Given the description of an element on the screen output the (x, y) to click on. 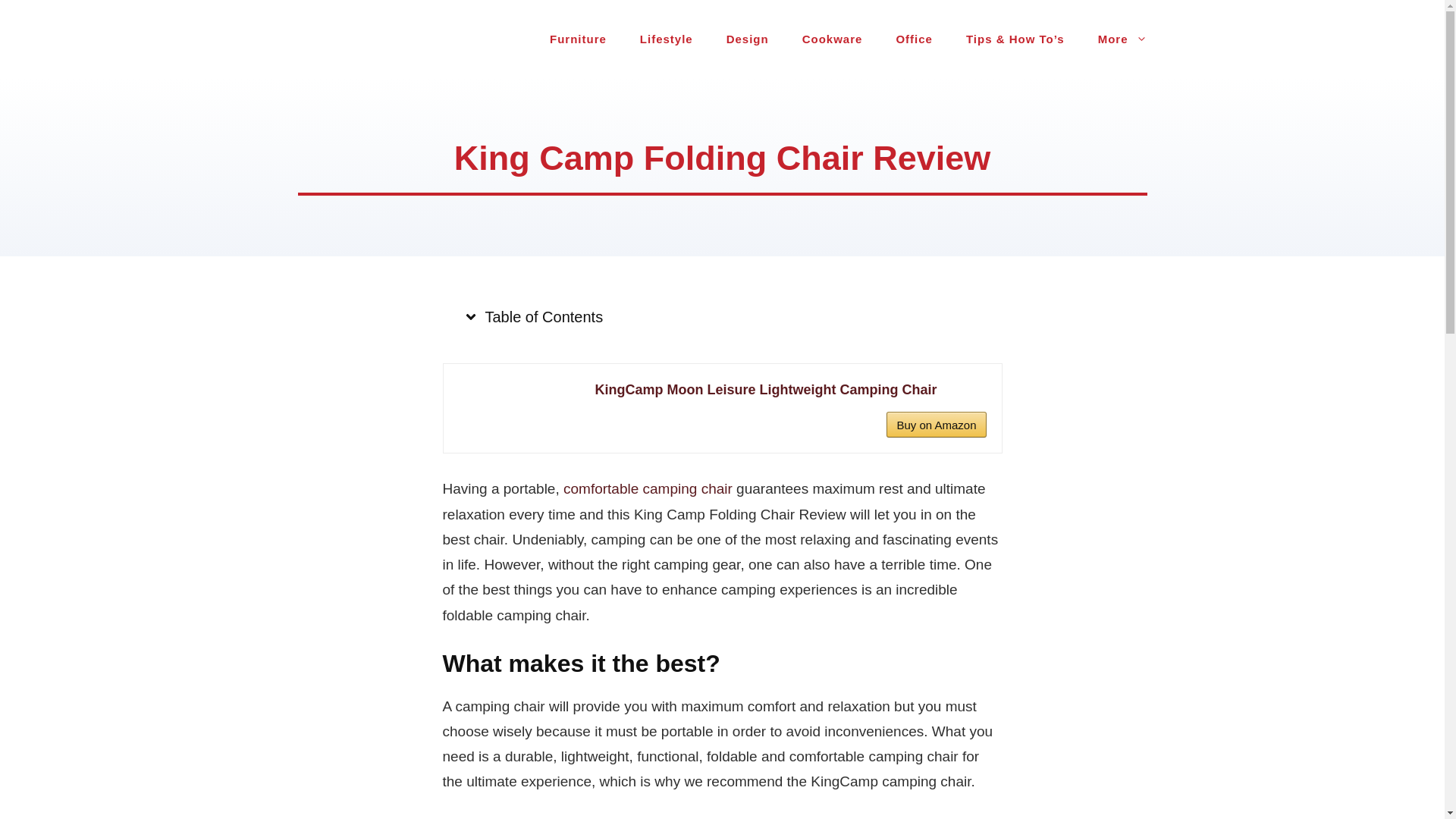
Table of Contents (532, 316)
Lifestyle (665, 39)
comfortable camping chair (647, 488)
Cookware (832, 39)
Design (747, 39)
Buy on Amazon (935, 424)
KingCamp Moon Leisure Lightweight Camping Chair (789, 390)
Furniture (577, 39)
KingCamp Moon Leisure Lightweight Camping Chair (789, 390)
More (1122, 39)
